Given the description of an element on the screen output the (x, y) to click on. 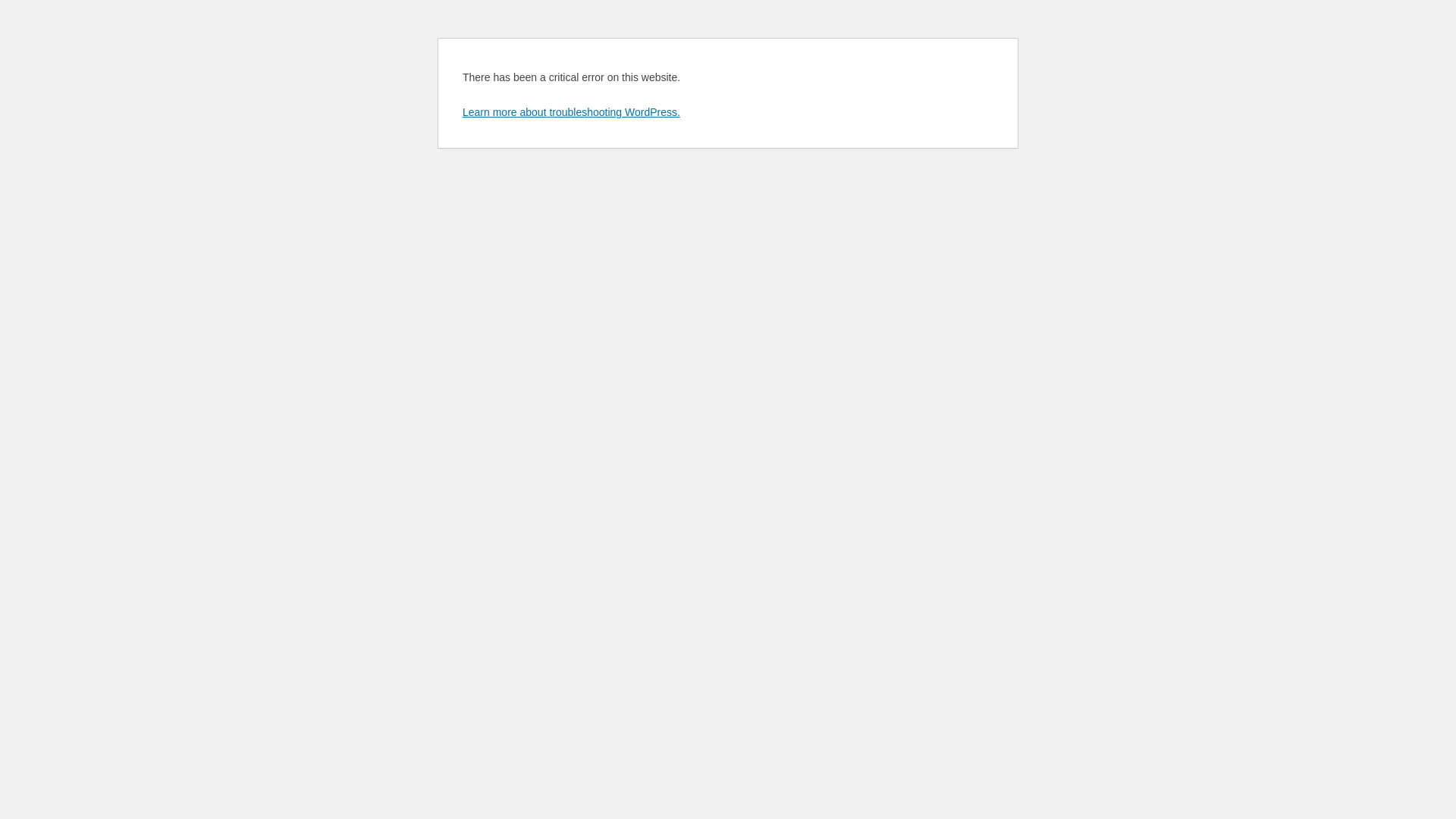
Learn more about troubleshooting WordPress. Element type: text (571, 112)
